Given the description of an element on the screen output the (x, y) to click on. 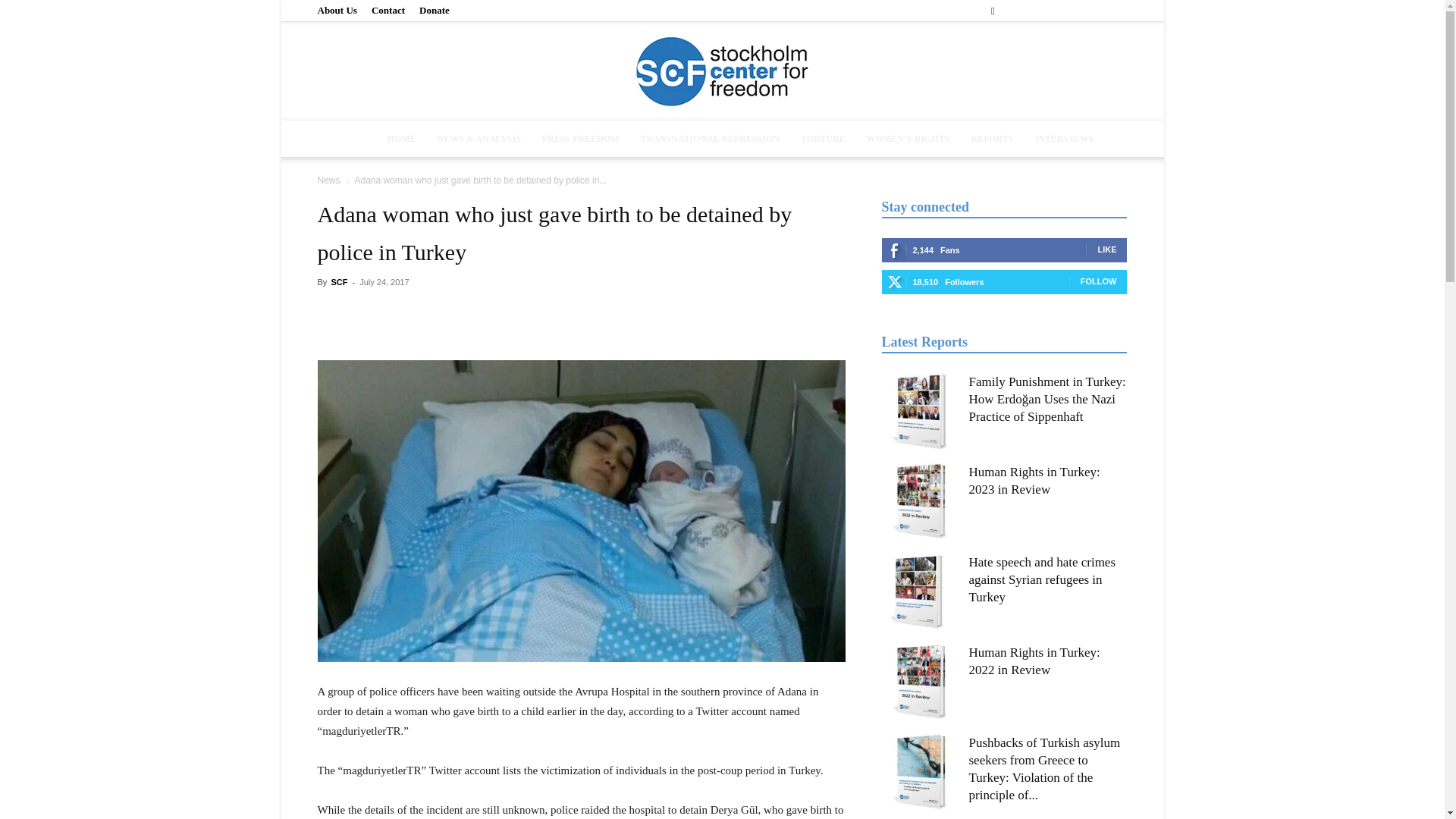
HOME (401, 138)
Contact (387, 9)
About Us (336, 9)
PRESS FREEDOM (580, 138)
TRANSNATIONAL REPRESSION (710, 138)
REPORTS (991, 138)
Youtube (1114, 10)
INTERVIEWS (1065, 138)
Twitter (1090, 10)
View all posts in News (328, 180)
Search (1085, 64)
Stockholm Center for Freedom (722, 72)
Donate (434, 9)
Linkedin (1065, 10)
News (328, 180)
